Given the description of an element on the screen output the (x, y) to click on. 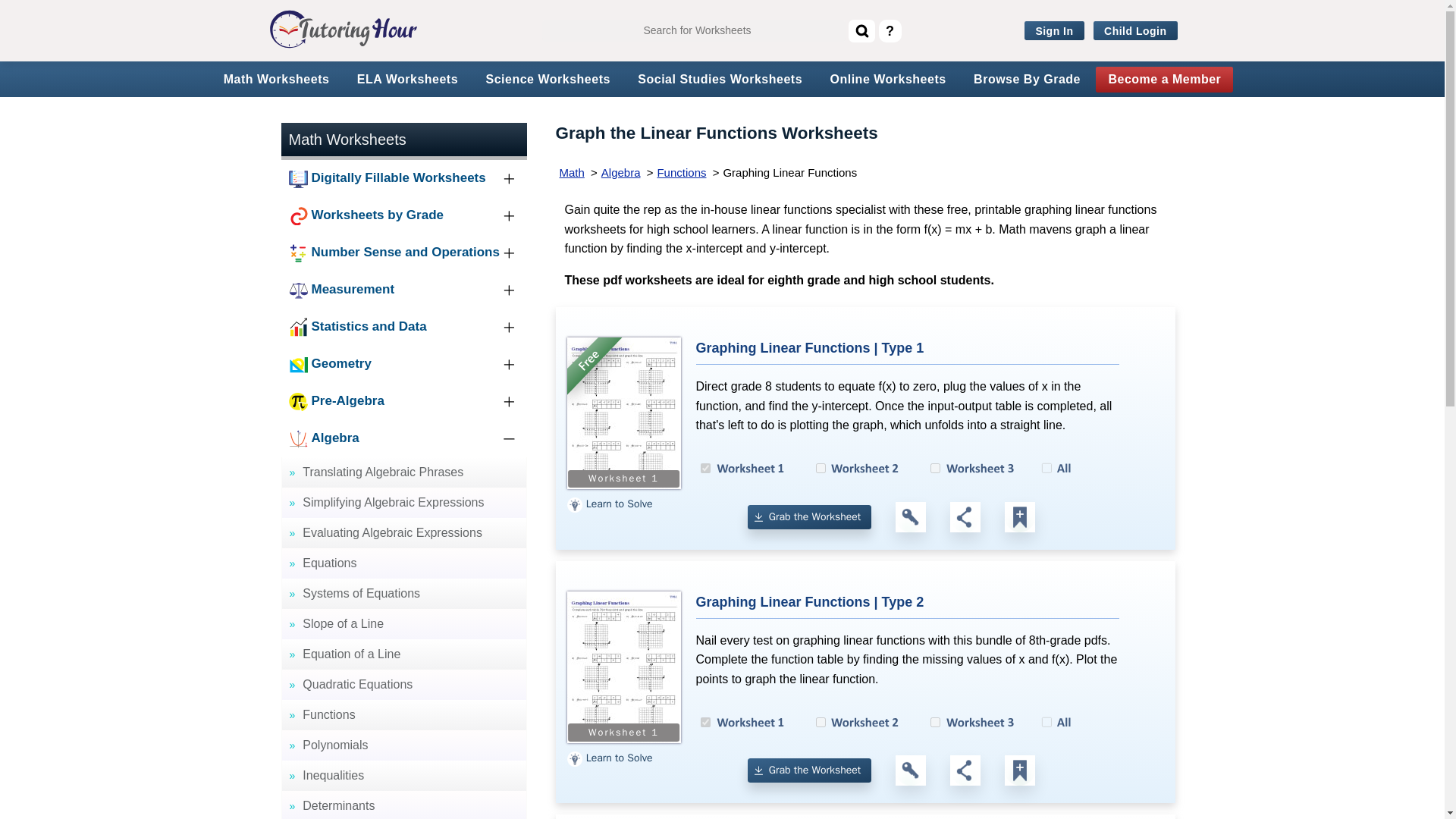
on (935, 468)
on (705, 468)
on (705, 722)
on (820, 468)
on (935, 722)
on (820, 722)
Digitally Fillable Worksheets (403, 178)
Child Login (1135, 30)
Sign In (1053, 30)
